Given the description of an element on the screen output the (x, y) to click on. 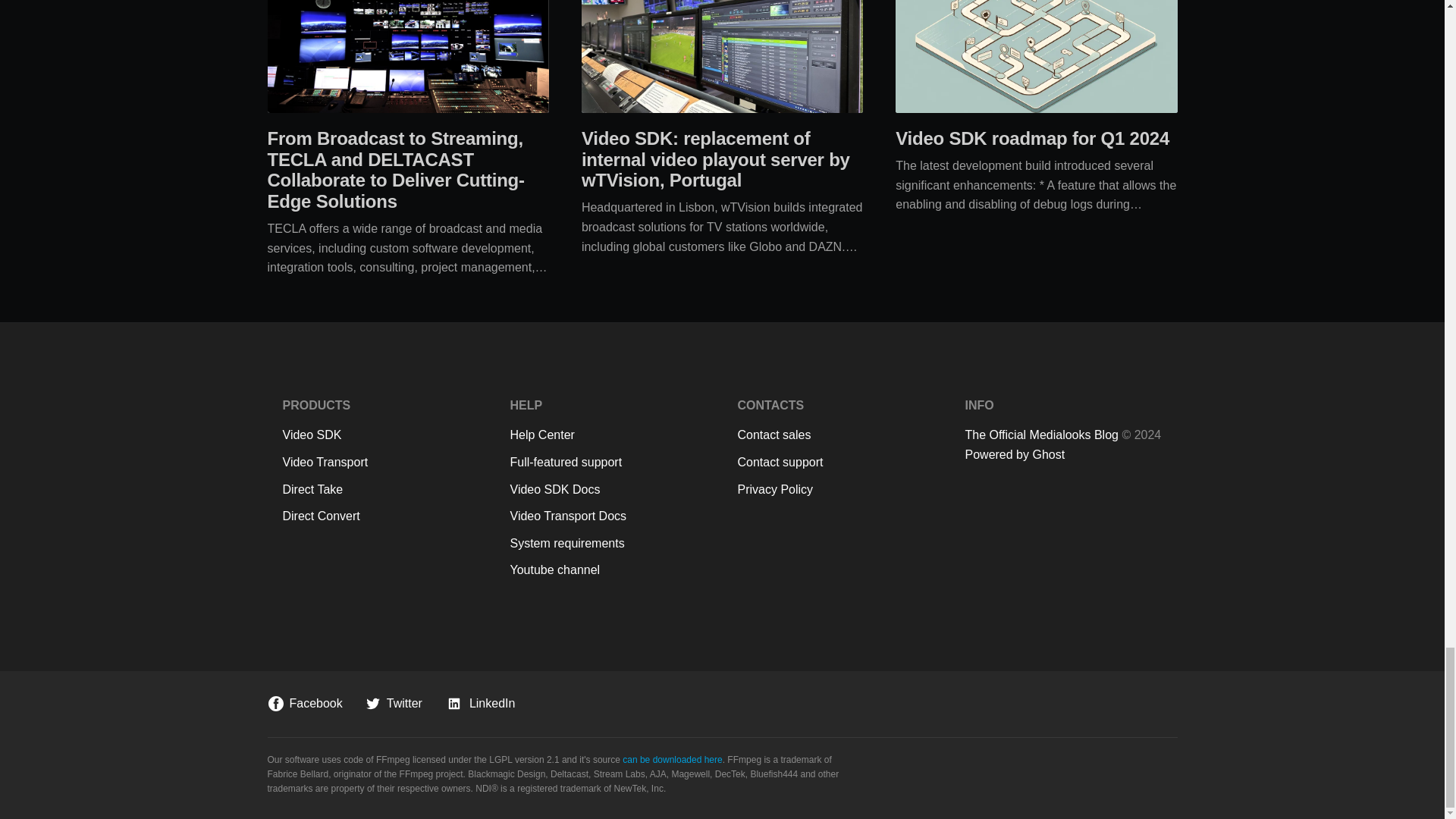
Video SDK (380, 435)
Direct Convert (380, 516)
Facebook (304, 703)
Twitter (394, 703)
Full-featured support (607, 462)
LinkedIn (480, 703)
Direct Take (380, 489)
Help Center (607, 435)
Video Transport (380, 462)
